Given the description of an element on the screen output the (x, y) to click on. 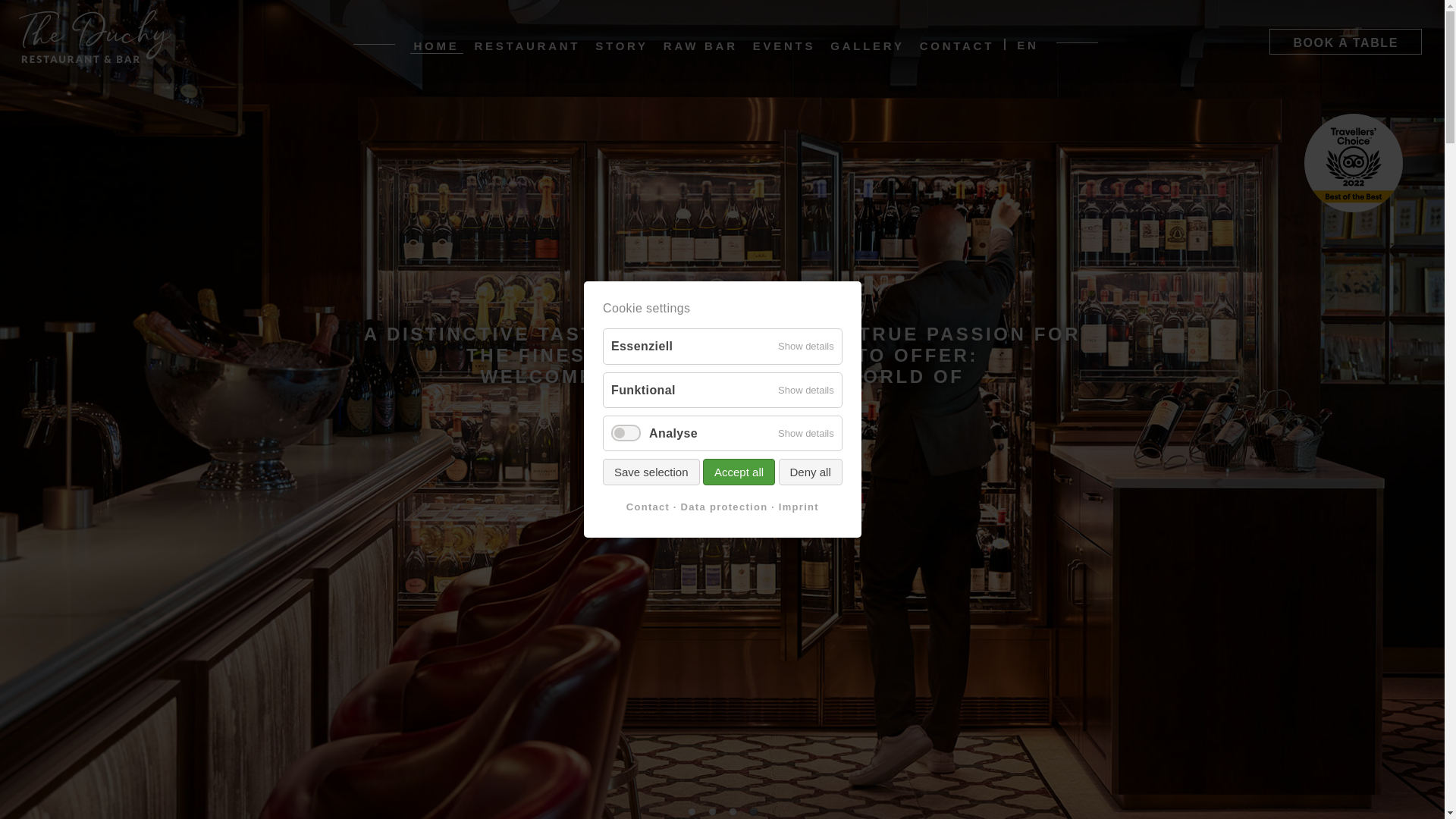
1 (691, 811)
3 (732, 811)
BOOK A TABLE (1345, 41)
2 (710, 811)
How to lead the live of The Duchy (621, 48)
CONTACT (956, 48)
4 (752, 811)
RAW BAR (700, 48)
STORY (621, 48)
RESTAURANT (527, 48)
We are here for you - Contact our team at The Duchy (956, 48)
EVENTS (784, 48)
GALLERY (867, 48)
The Duchy Image Gallery (867, 48)
